Given the description of an element on the screen output the (x, y) to click on. 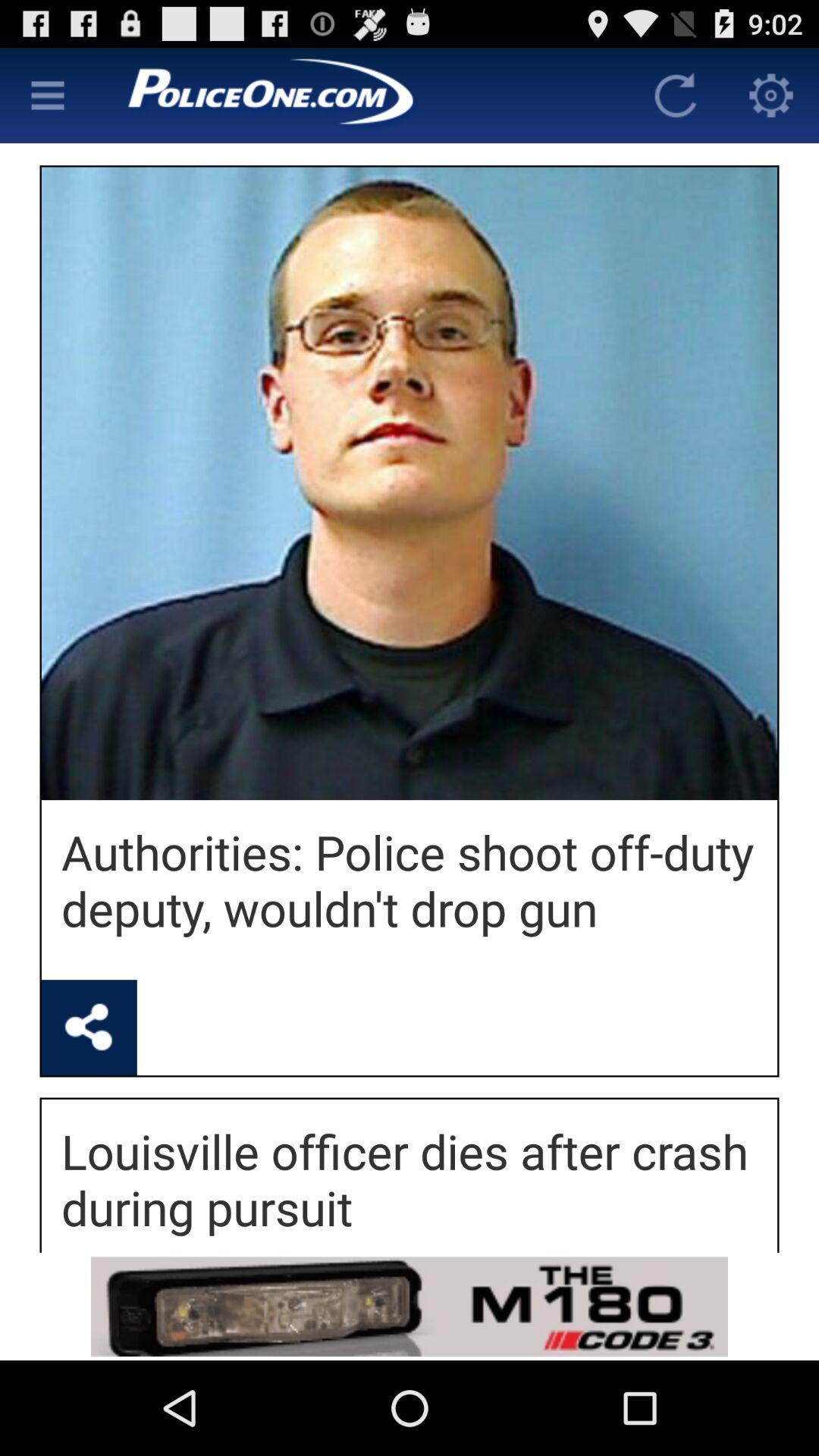
shows share icon (89, 1027)
